Given the description of an element on the screen output the (x, y) to click on. 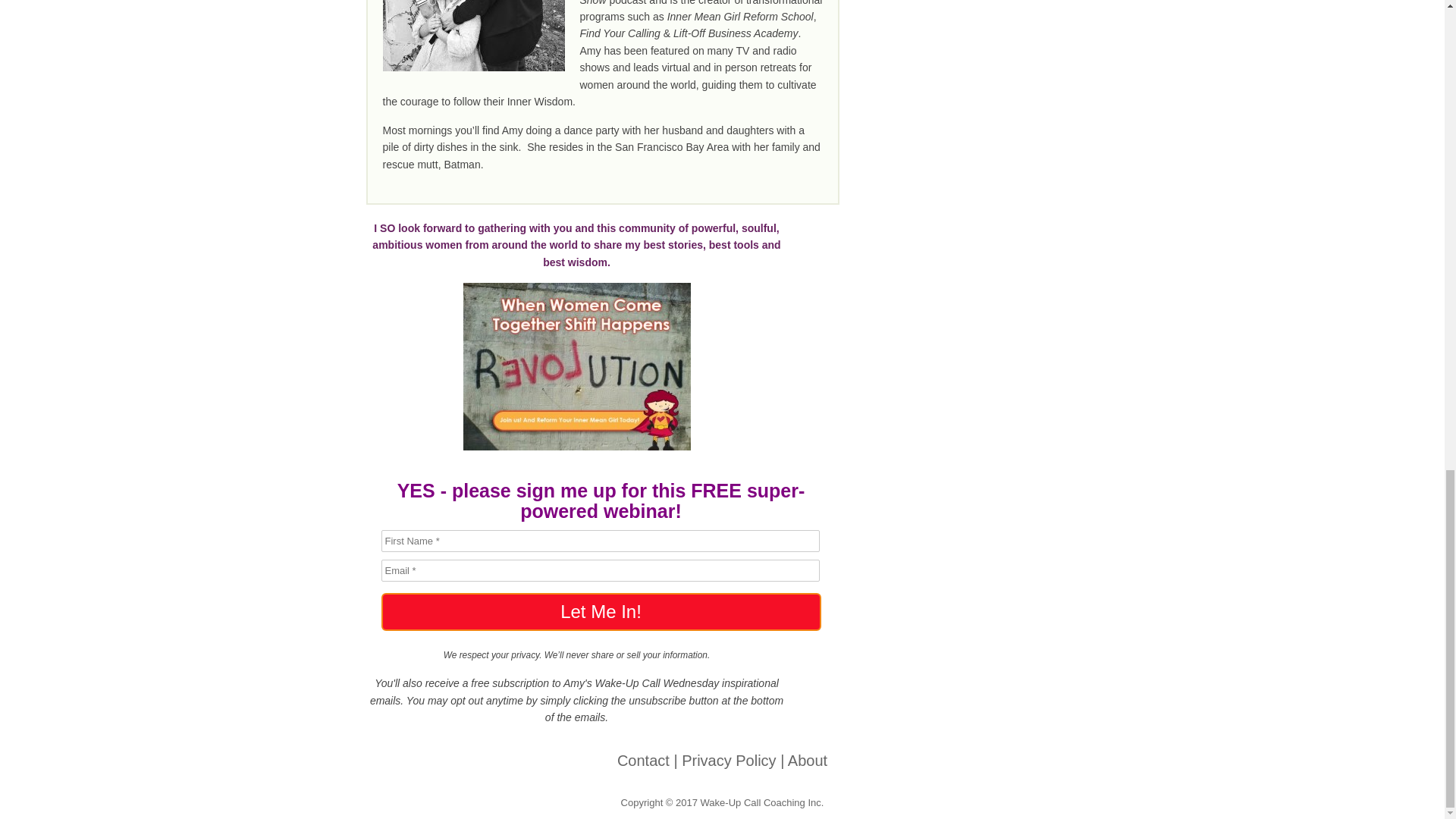
About (807, 760)
Privacy Policy (728, 760)
Let Me In! (600, 611)
Contact (643, 760)
